Given the description of an element on the screen output the (x, y) to click on. 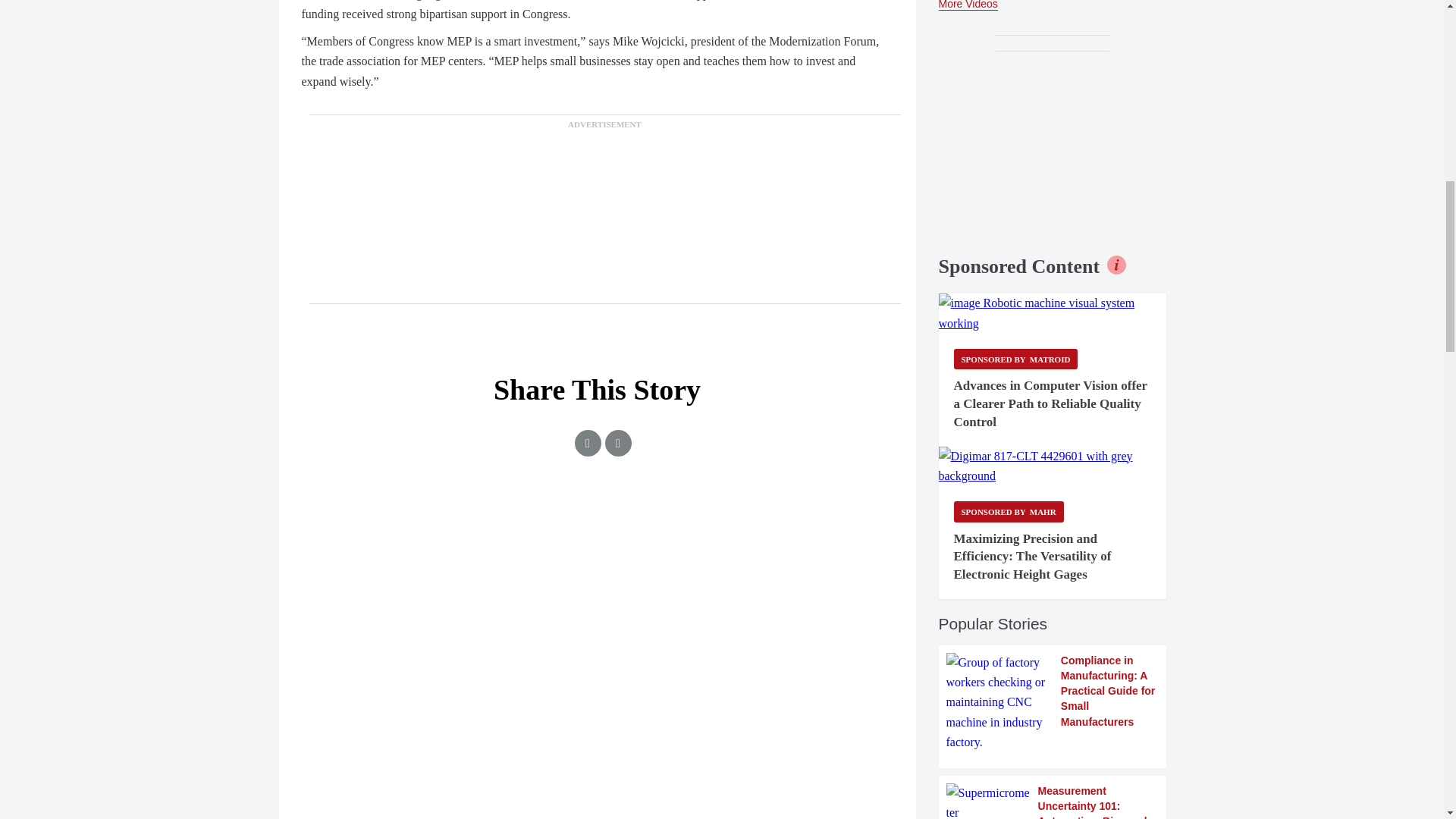
Sponsored by Mahr (1008, 511)
Robotic machine visual system working (1052, 313)
Sponsored by Matroid (1015, 358)
Digimar 817-CLT 4429601 with grey background (1052, 466)
